Given the description of an element on the screen output the (x, y) to click on. 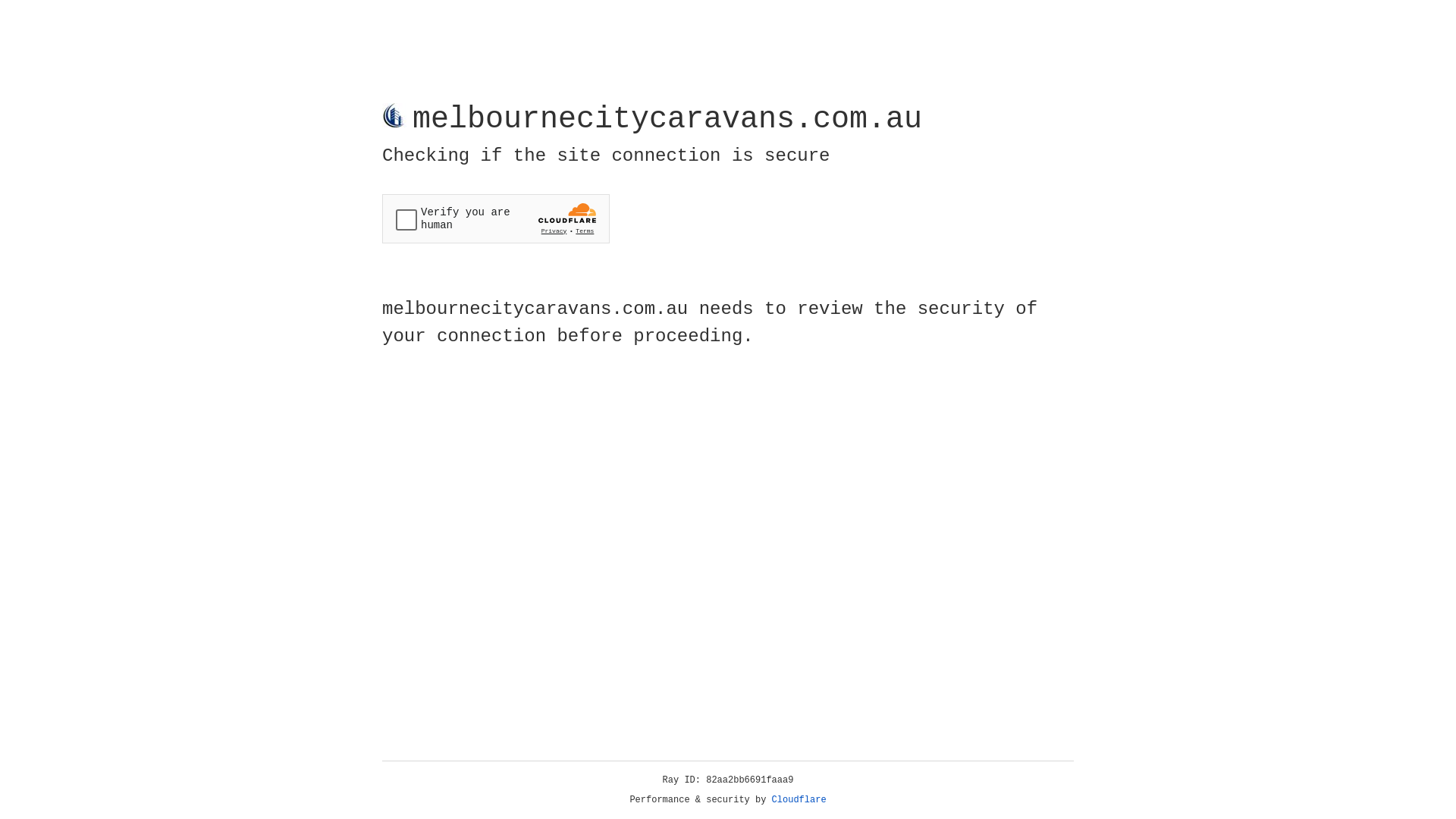
Widget containing a Cloudflare security challenge Element type: hover (495, 218)
Cloudflare Element type: text (798, 799)
